Given the description of an element on the screen output the (x, y) to click on. 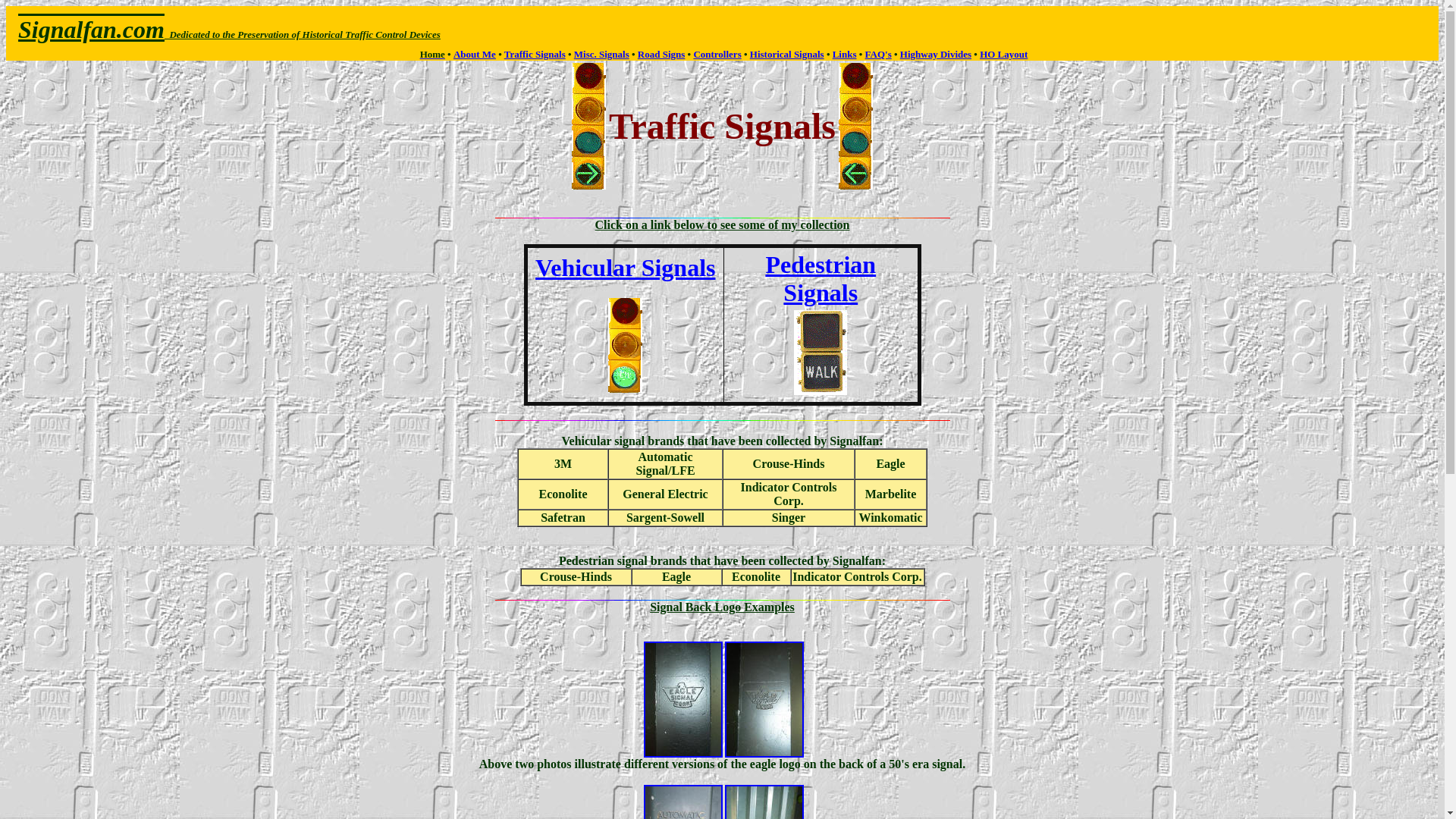
Home (432, 53)
Road Signs (661, 53)
Traffic Signals (534, 53)
Historical Signals (786, 53)
Highway Divides (935, 53)
Controllers (717, 53)
Pedestrian Signals (820, 278)
HO Layout (1003, 53)
About Me (474, 53)
Links (844, 53)
